Given the description of an element on the screen output the (x, y) to click on. 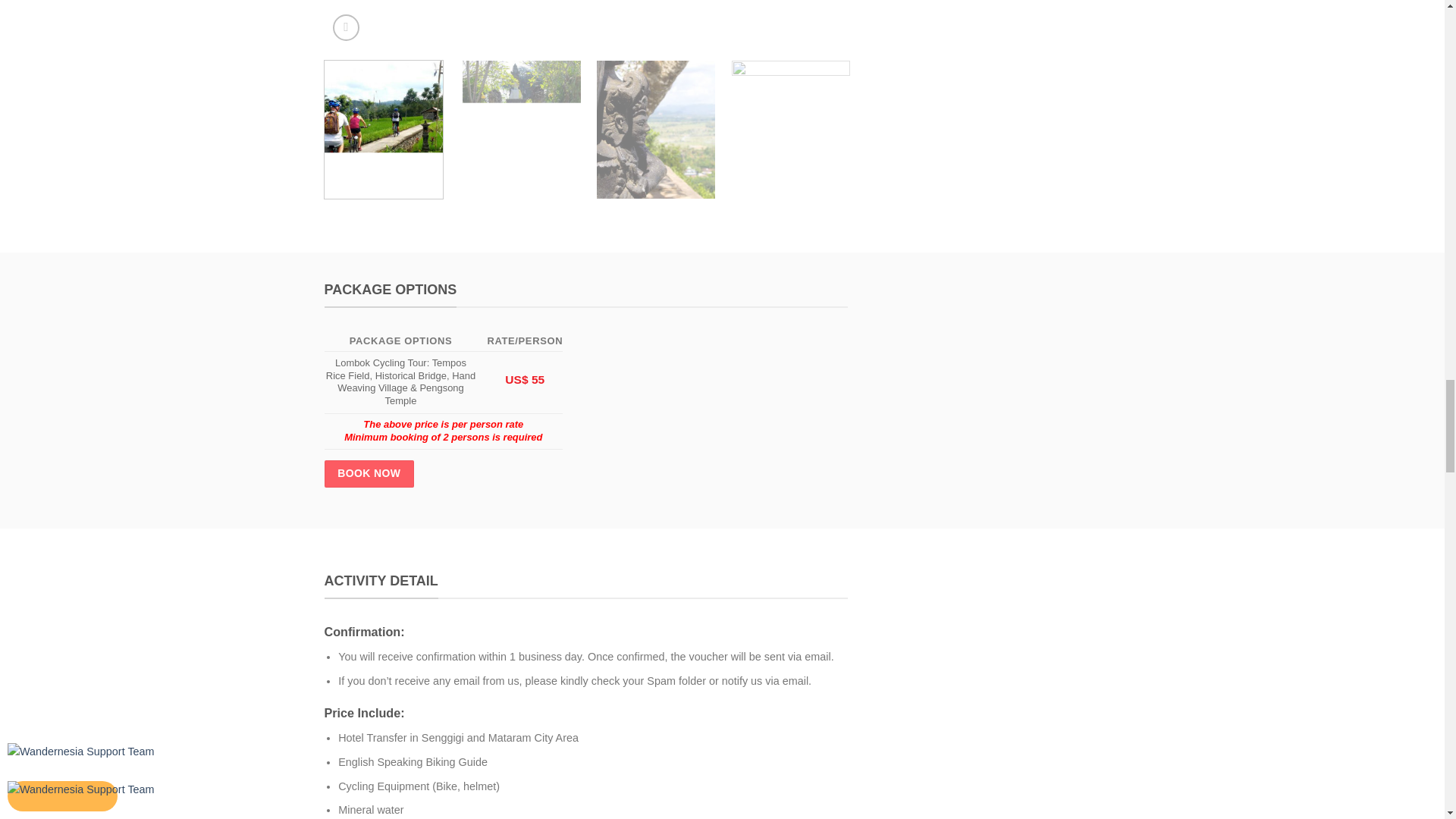
cycling (585, 23)
gunung pengsong temple by homeiswhereyourbagis (1109, 23)
Zoom (346, 27)
